Given the description of an element on the screen output the (x, y) to click on. 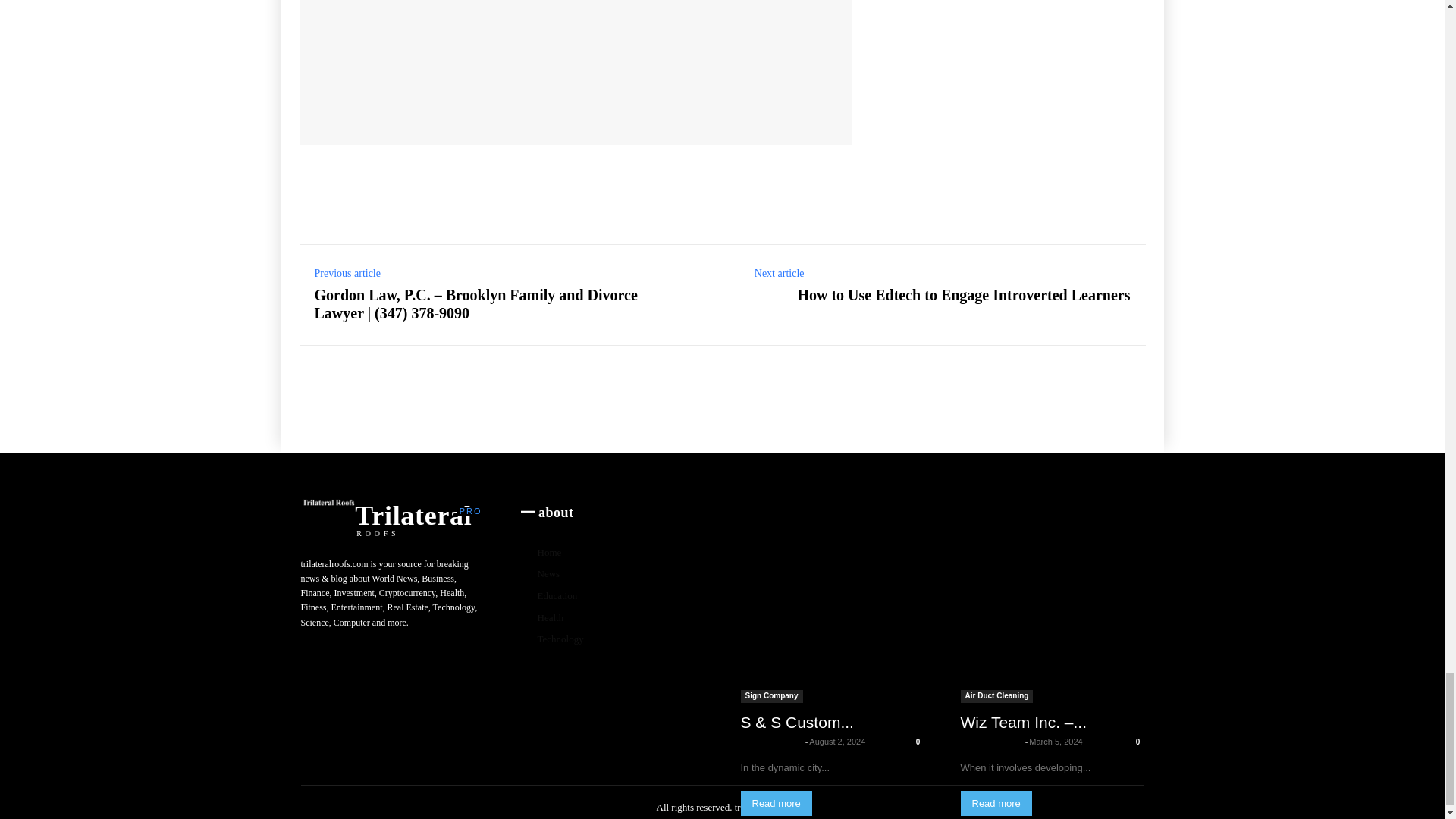
Trilateral Roofs (500, 64)
